Given the description of an element on the screen output the (x, y) to click on. 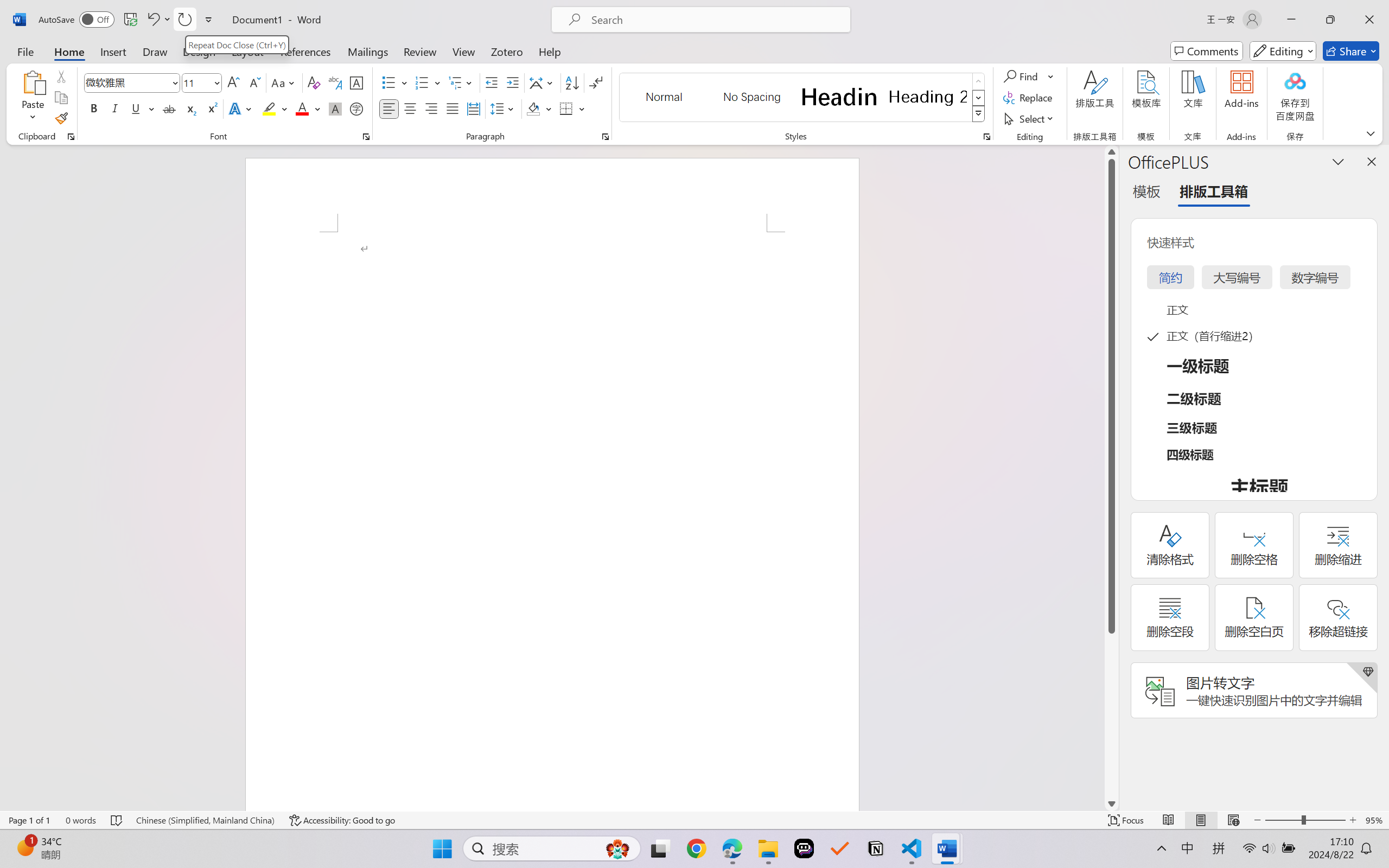
Undo <ApplyStyleToDoc>b__0 (152, 19)
Repeat Doc Close (Ctrl+Y) (236, 44)
